Given the description of an element on the screen output the (x, y) to click on. 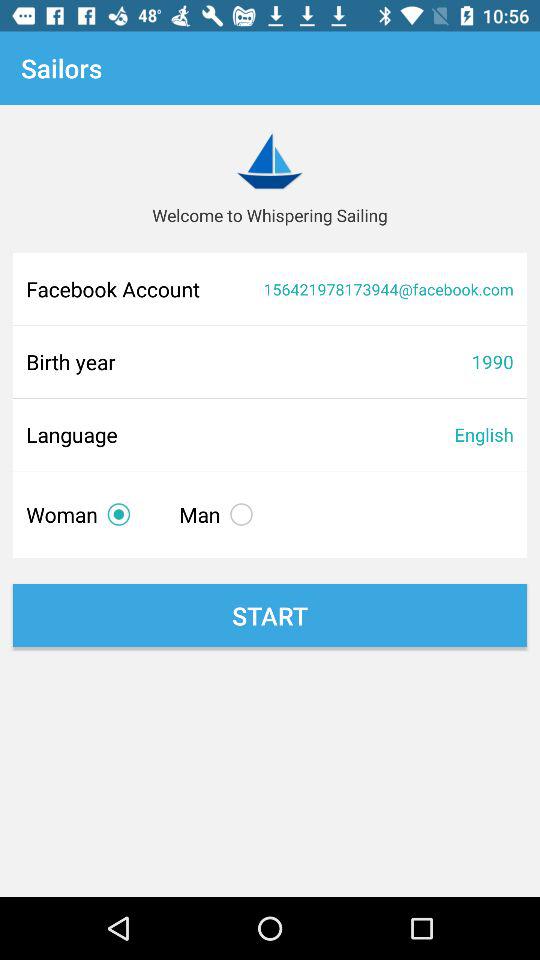
click item above start icon (82, 514)
